Given the description of an element on the screen output the (x, y) to click on. 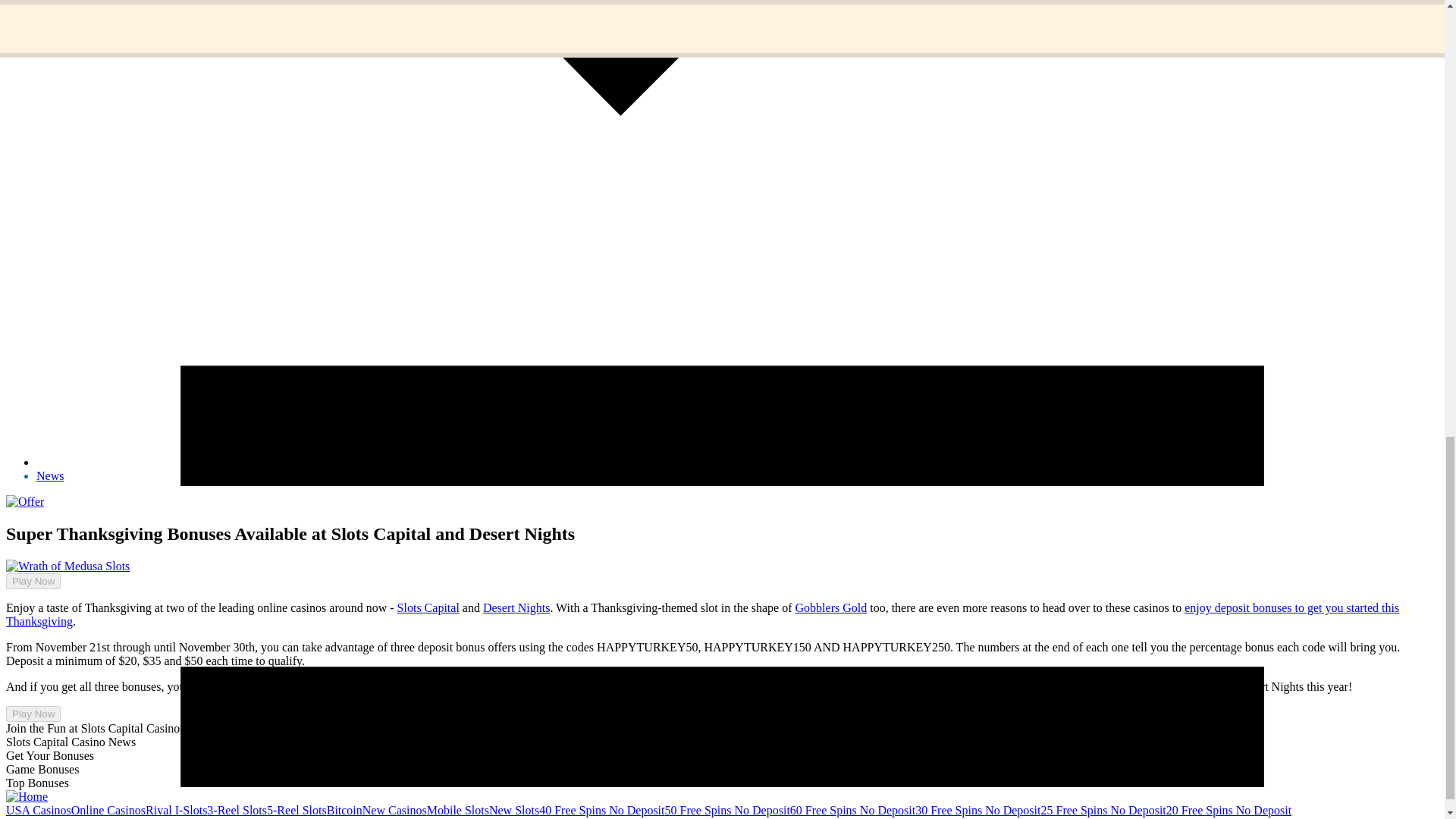
Play Now (33, 713)
Online Casinos (108, 809)
5-Reel Slots (296, 809)
Bitcoin (344, 809)
60 Free Spins No Deposit (852, 809)
News (50, 475)
USA Casinos (38, 809)
New Casinos (394, 809)
New Slots (513, 809)
20 Free Spins No Deposit (1228, 809)
